Given the description of an element on the screen output the (x, y) to click on. 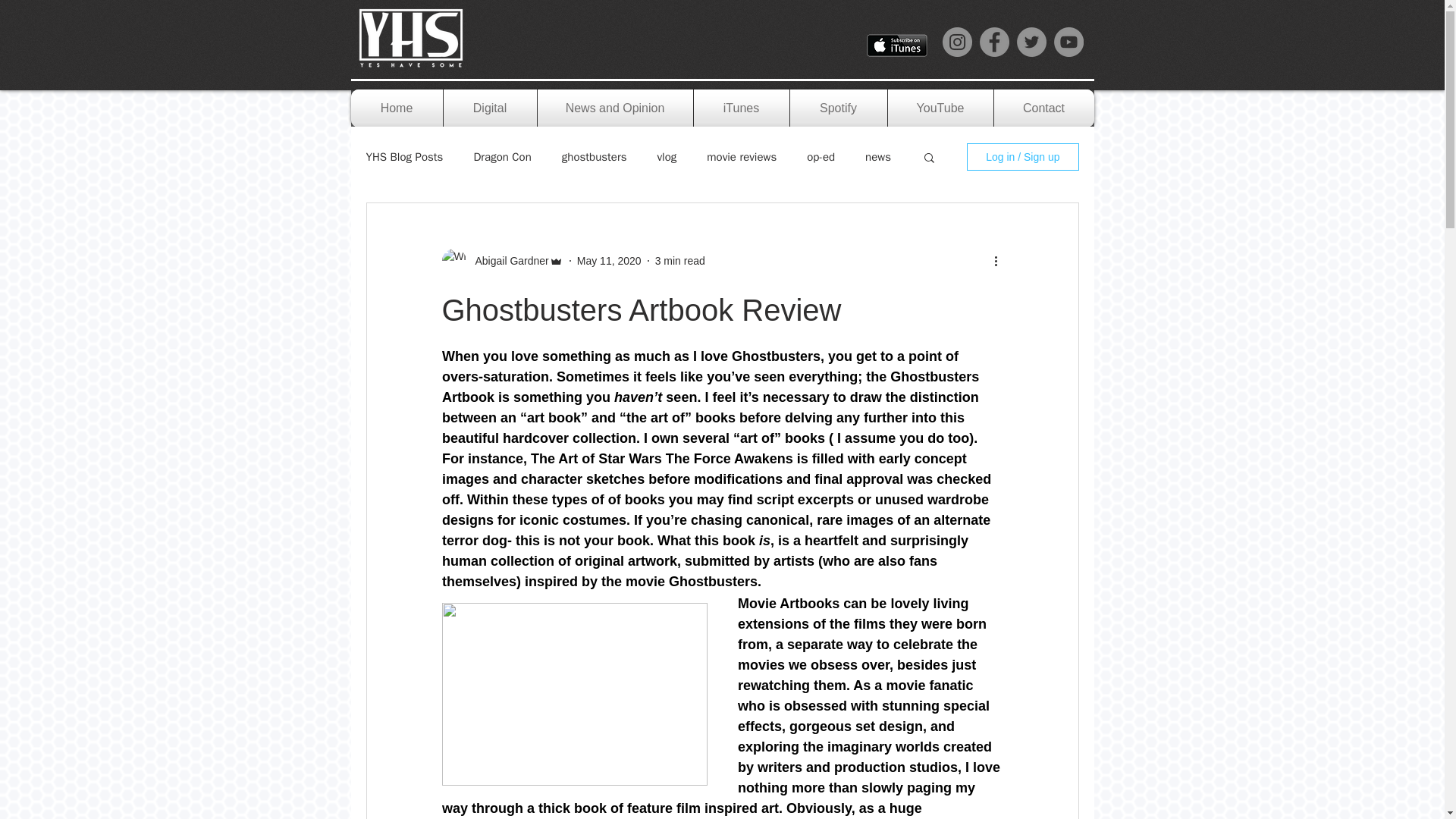
Contact (1042, 108)
YHS Blog Posts (403, 156)
3 min read (679, 260)
iTunes (741, 108)
Home (396, 108)
movie reviews (741, 156)
Dragon Con (502, 156)
Digital (488, 108)
ghostbusters (594, 156)
news (877, 156)
